Given the description of an element on the screen output the (x, y) to click on. 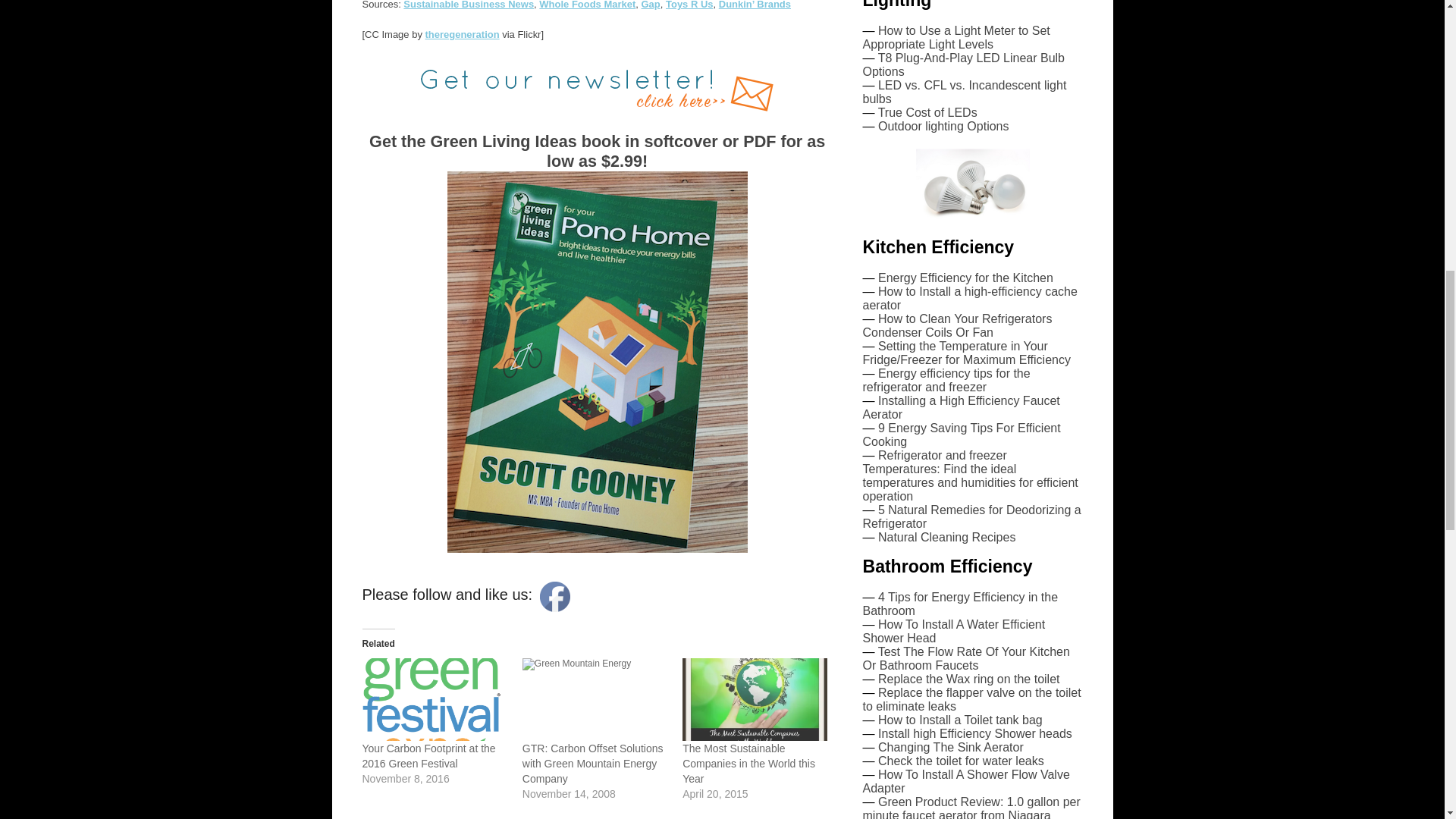
Toys R Us (689, 4)
theregeneration (462, 34)
Gap (651, 4)
Your Carbon Footprint at the 2016 Green Festival (429, 755)
Facebook (555, 596)
Sustainable Business News (468, 4)
Your Carbon Footprint at the 2016 Green Festival (434, 699)
The Most Sustainable Companies in the World this Year (748, 763)
Whole Foods Market (586, 4)
The Most Sustainable Companies in the World this Year (754, 699)
